Given the description of an element on the screen output the (x, y) to click on. 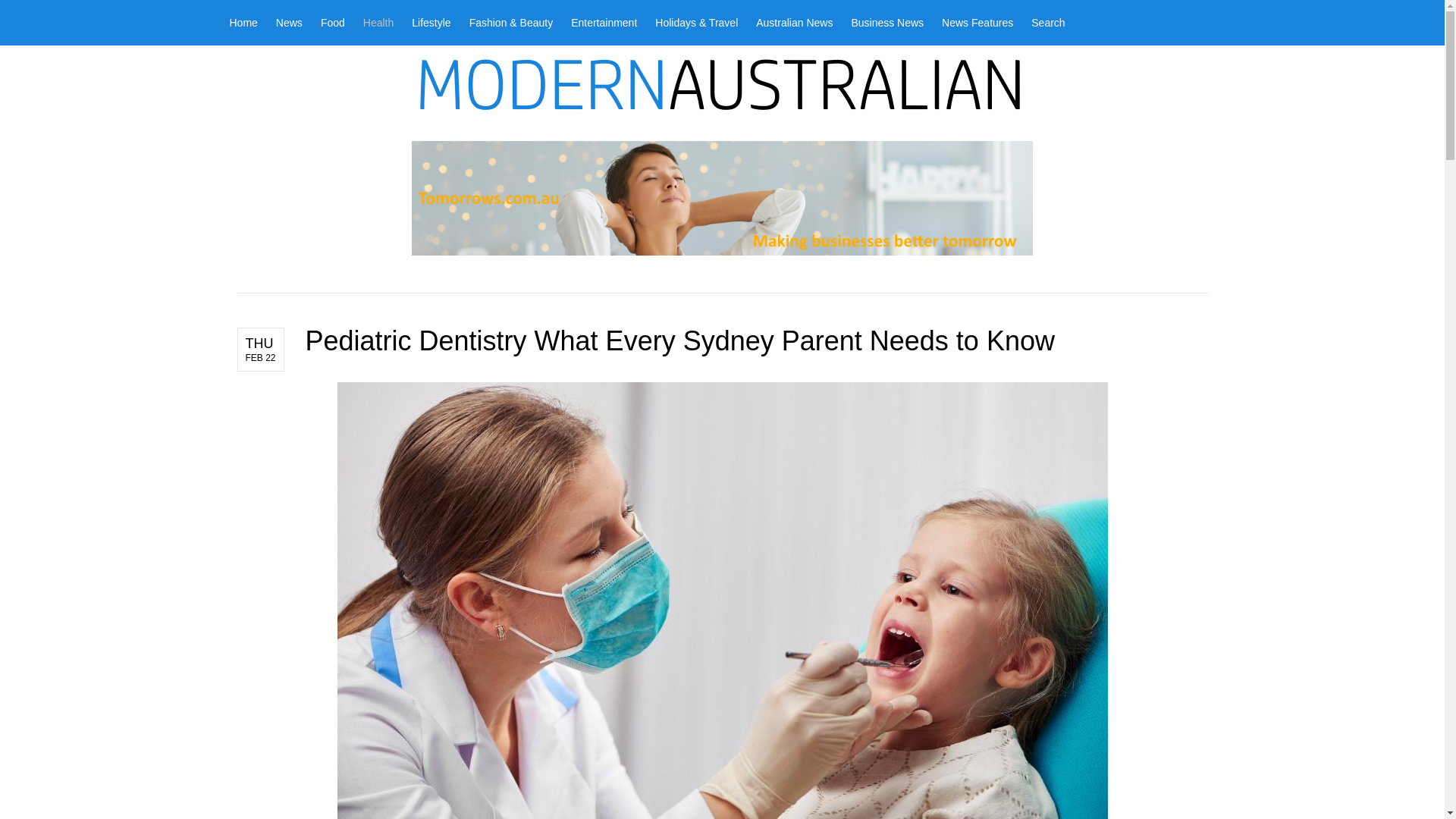
Food (332, 22)
News (288, 22)
Lifestyle (431, 22)
Australian News (793, 22)
Health (378, 22)
News Features (977, 22)
Search (1043, 22)
Business News (887, 22)
Entertainment (604, 22)
